Given the description of an element on the screen output the (x, y) to click on. 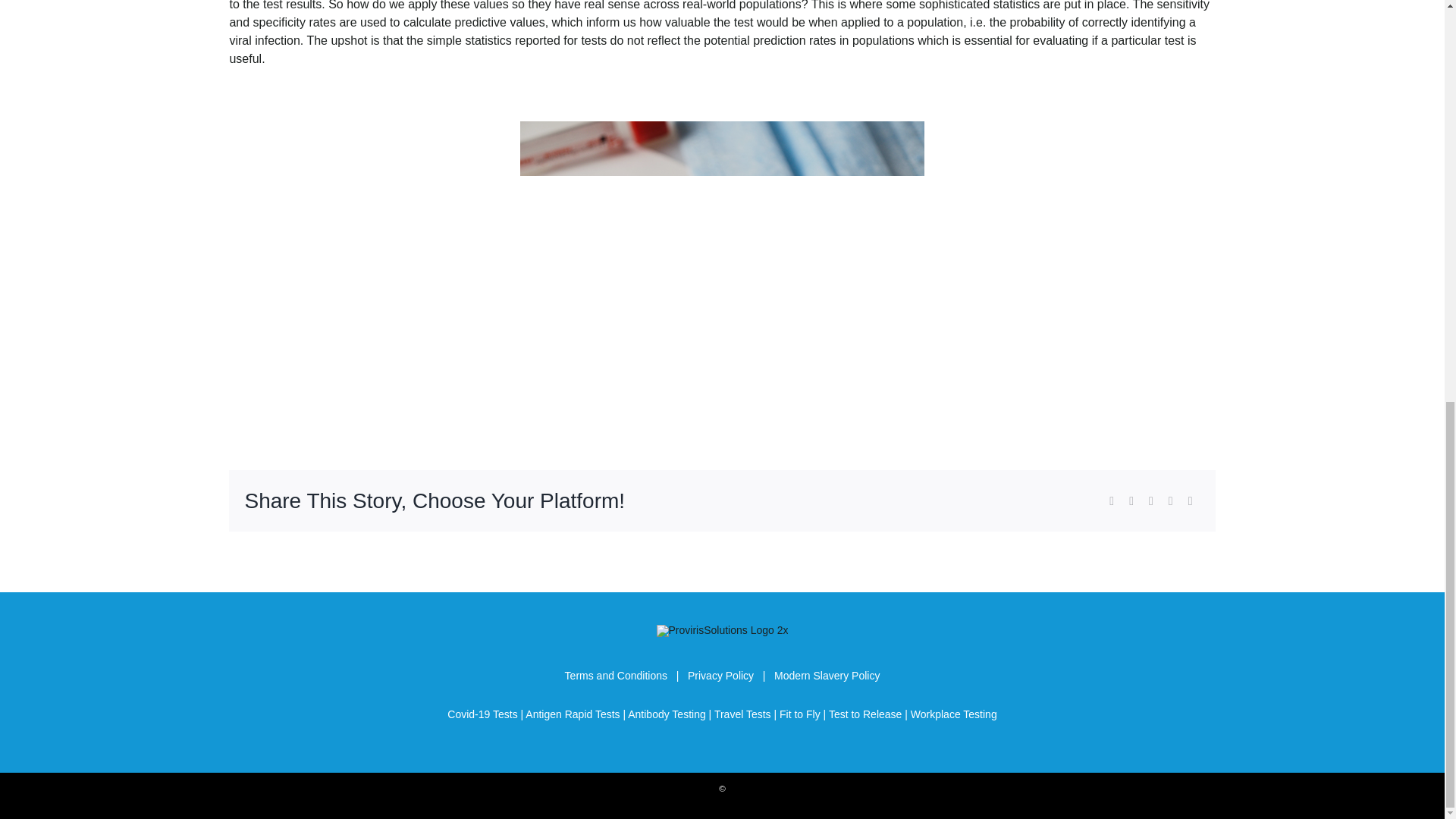
WhatsApp (1170, 501)
Fit to Fly Tests Covid-19 (799, 714)
Coronavirus COVID-2019 test concept (721, 273)
Covid-19 Test to Release (865, 714)
Covid-19 Antibody Tests (665, 714)
Email (1189, 501)
LinkedIn (1150, 501)
Facebook (1111, 501)
Covid-19 Workplace Testing (954, 714)
Covid-19 Travel Tests (742, 714)
ProvirisSolutions Logo 2x (722, 630)
Twitter (1131, 501)
